Given the description of an element on the screen output the (x, y) to click on. 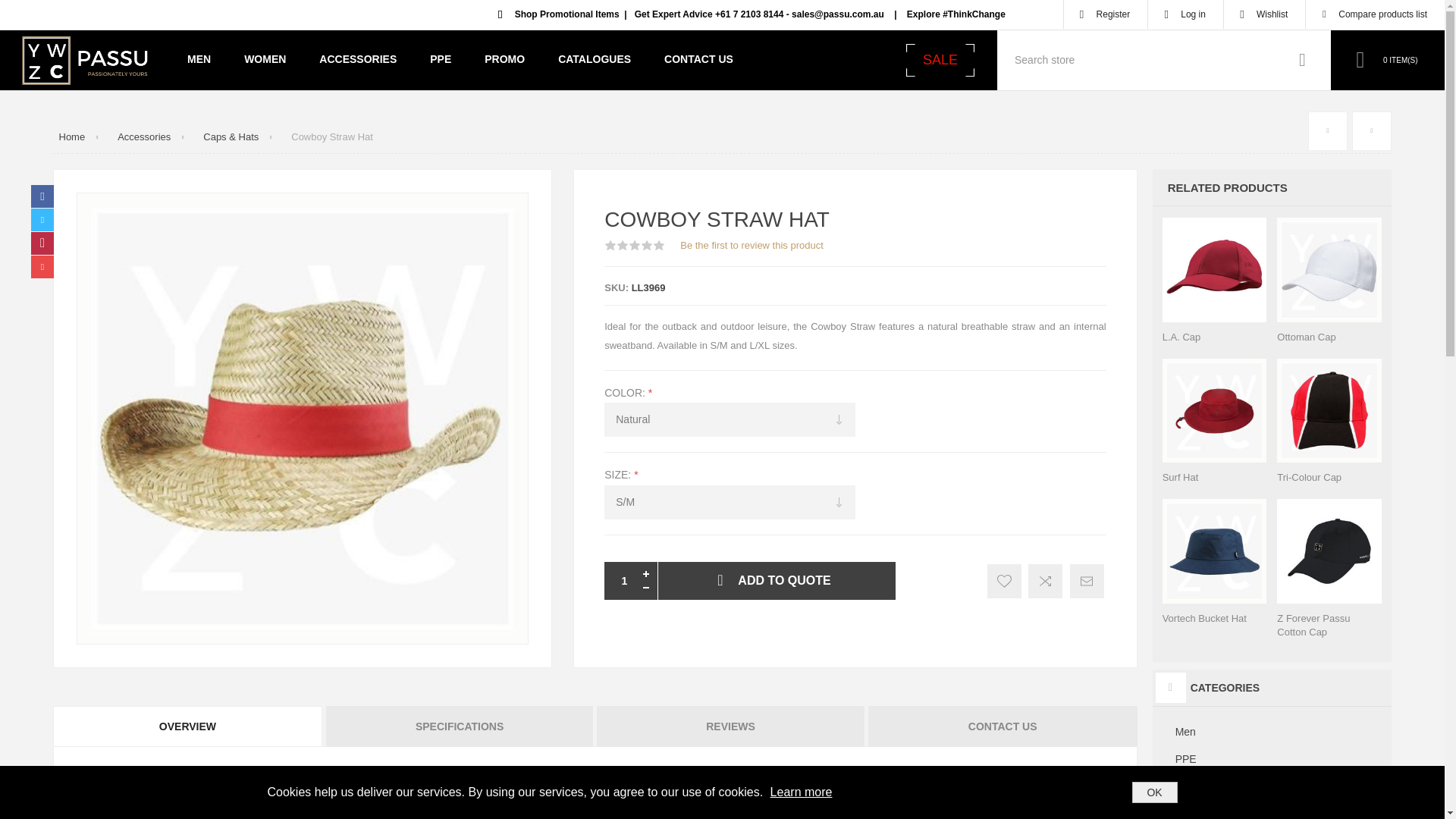
MEN (198, 58)
Register (1106, 14)
Add to compare list (1044, 581)
Add to wishlist (1004, 581)
Search (1302, 60)
Wishlist (1264, 14)
Search (1302, 60)
Shop Promotional Items (567, 14)
Email a friend (1086, 581)
Log in (1185, 14)
